Given the description of an element on the screen output the (x, y) to click on. 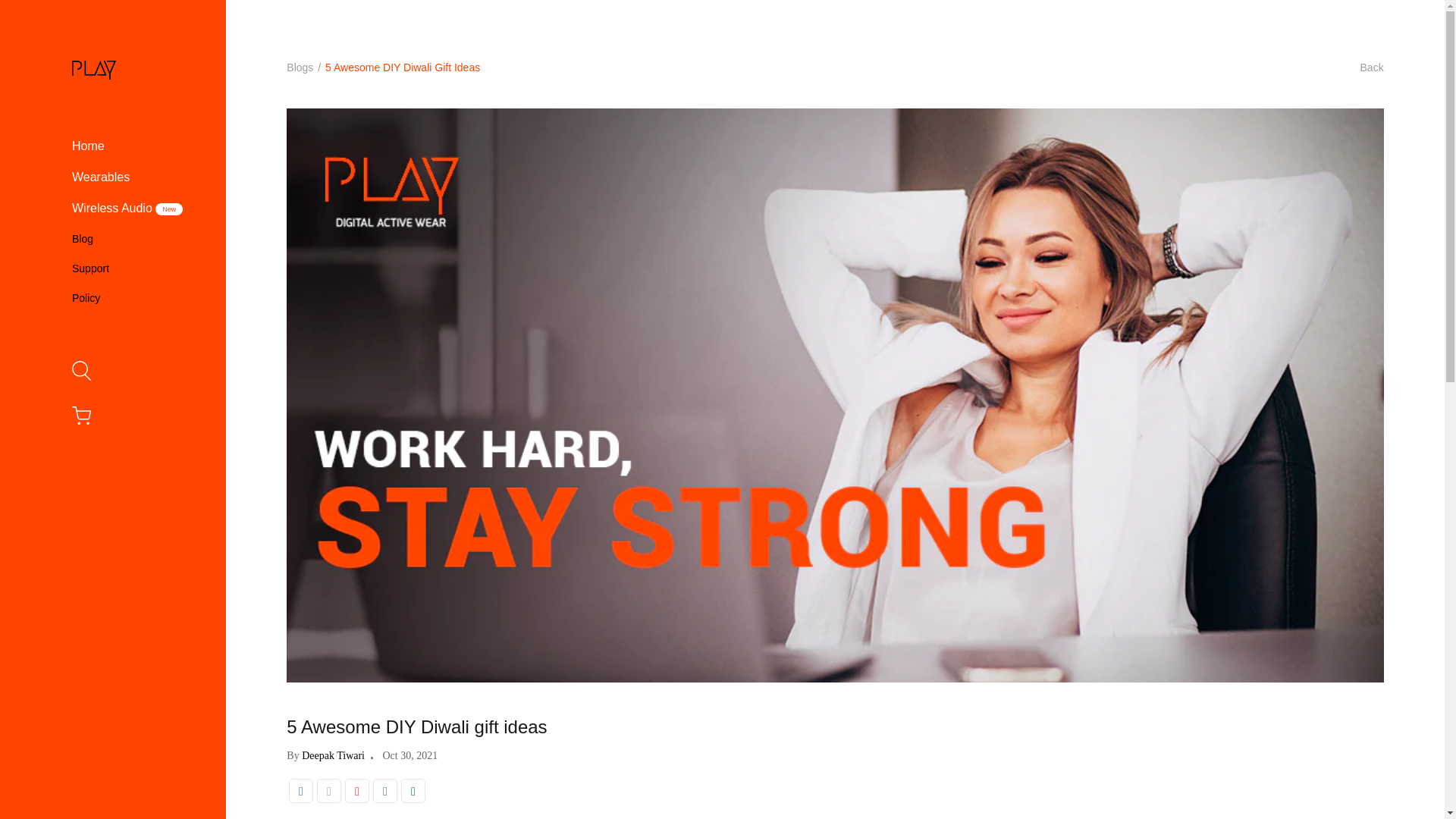
Wearables (100, 177)
Support (90, 268)
Home (88, 146)
Policy (85, 297)
Wireless Audio New (126, 208)
Blog (82, 238)
